Given the description of an element on the screen output the (x, y) to click on. 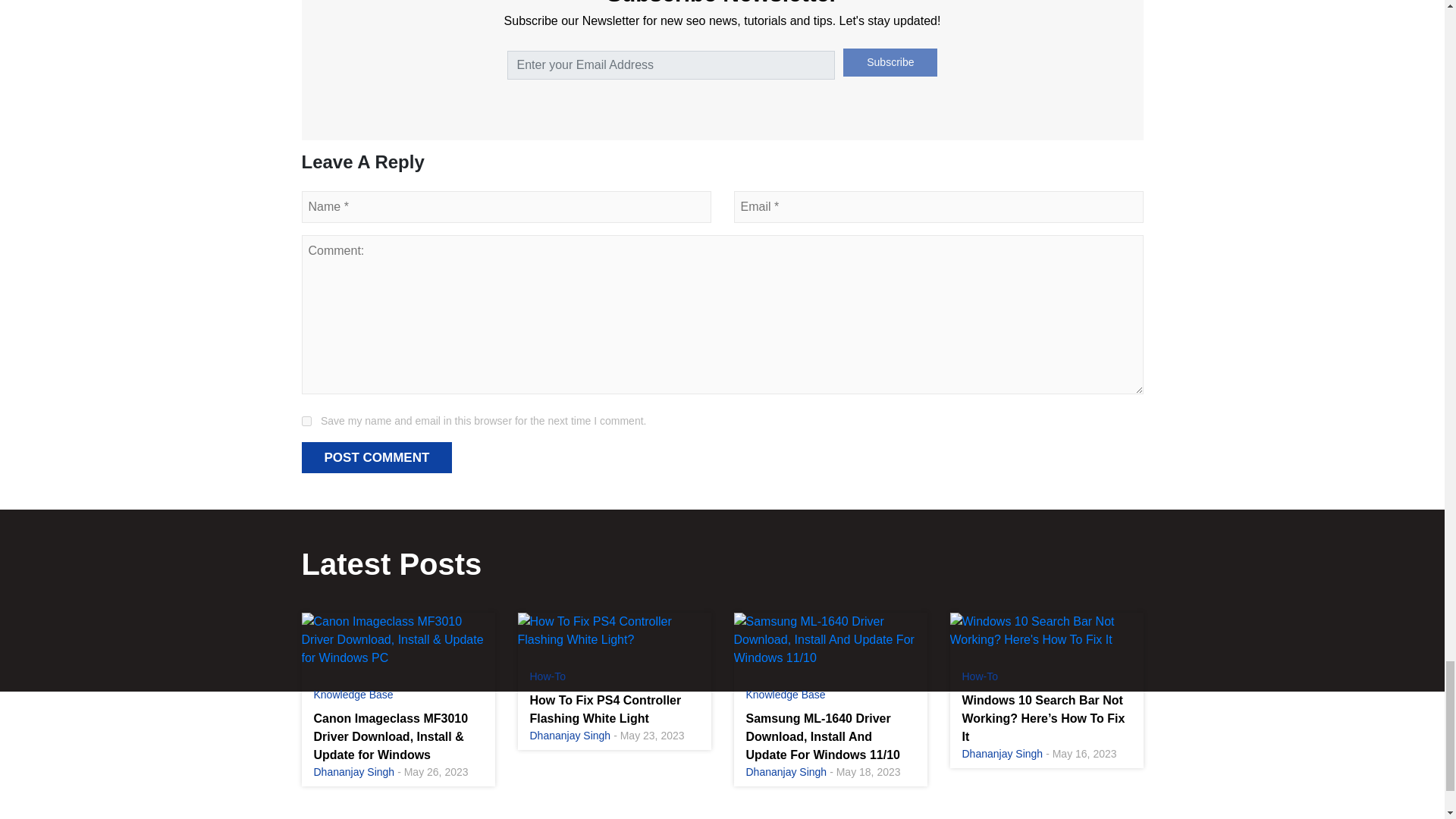
Windows 10 Search Bar Not Working? Here's How To Fix It (1045, 630)
How To Fix PS4 Controller Flashing White Light? (613, 630)
Dhananjay Singh (354, 771)
Subscribe (890, 62)
POST COMMENT (376, 458)
POST COMMENT (376, 458)
yes (306, 420)
Subscribe (890, 62)
Knowledge Base (353, 694)
